Given the description of an element on the screen output the (x, y) to click on. 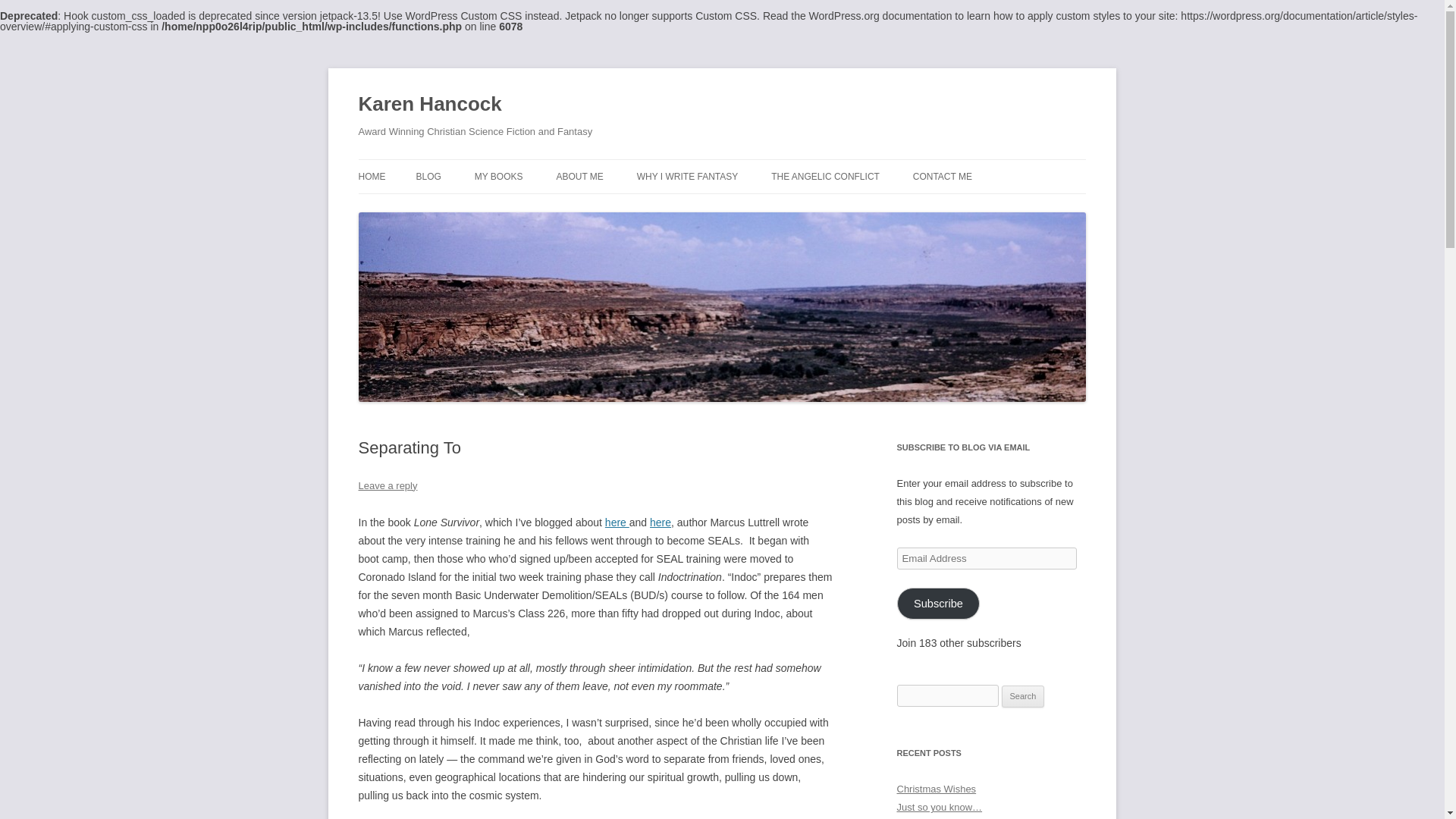
MY BOOKS (498, 176)
CONTACT ME (942, 176)
here (616, 522)
ARENA (550, 208)
Leave a reply (387, 485)
WHY I WRITE FANTASY (687, 176)
Karen Hancock (429, 104)
here (660, 522)
Search (1023, 696)
ABOUT ME (579, 176)
THE ANGELIC CONFLICT (825, 176)
Karen Hancock (429, 104)
